Given the description of an element on the screen output the (x, y) to click on. 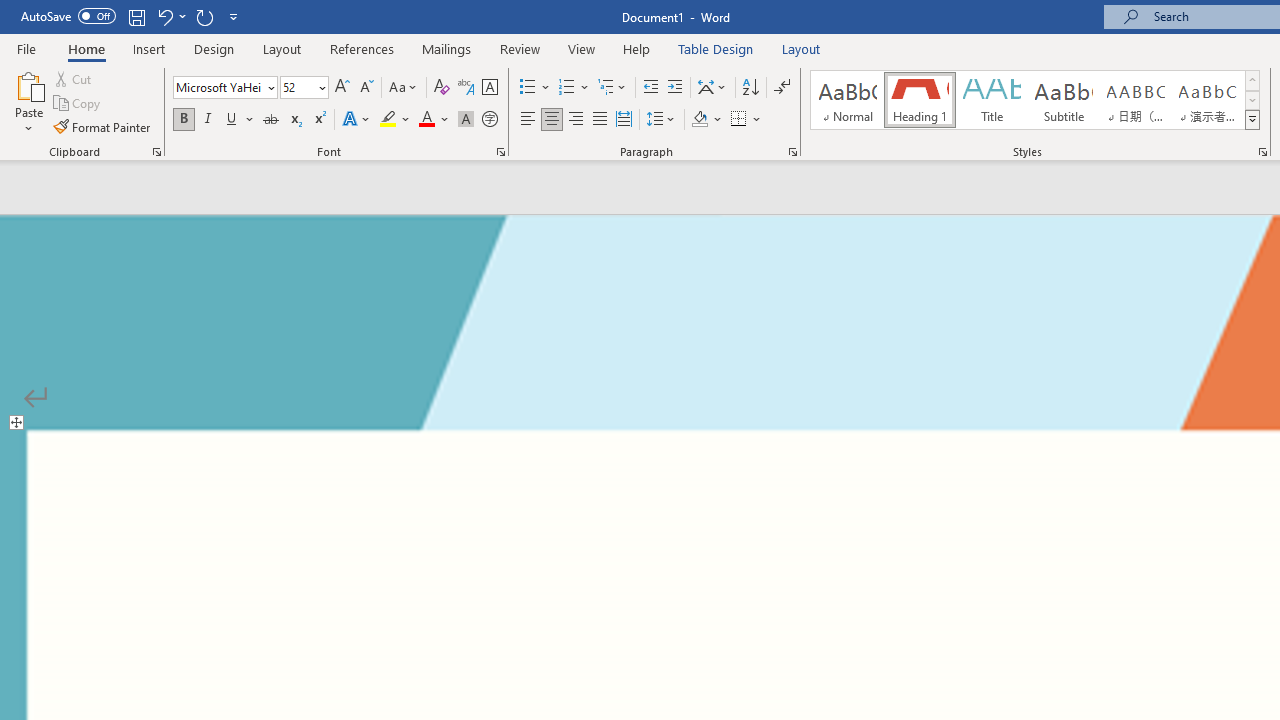
Grow Font (342, 87)
Text Highlight Color Yellow (388, 119)
Superscript (319, 119)
Multilevel List (613, 87)
Change Case (404, 87)
Text Effects and Typography (357, 119)
Styles... (1262, 151)
Undo Typing (170, 15)
